Given the description of an element on the screen output the (x, y) to click on. 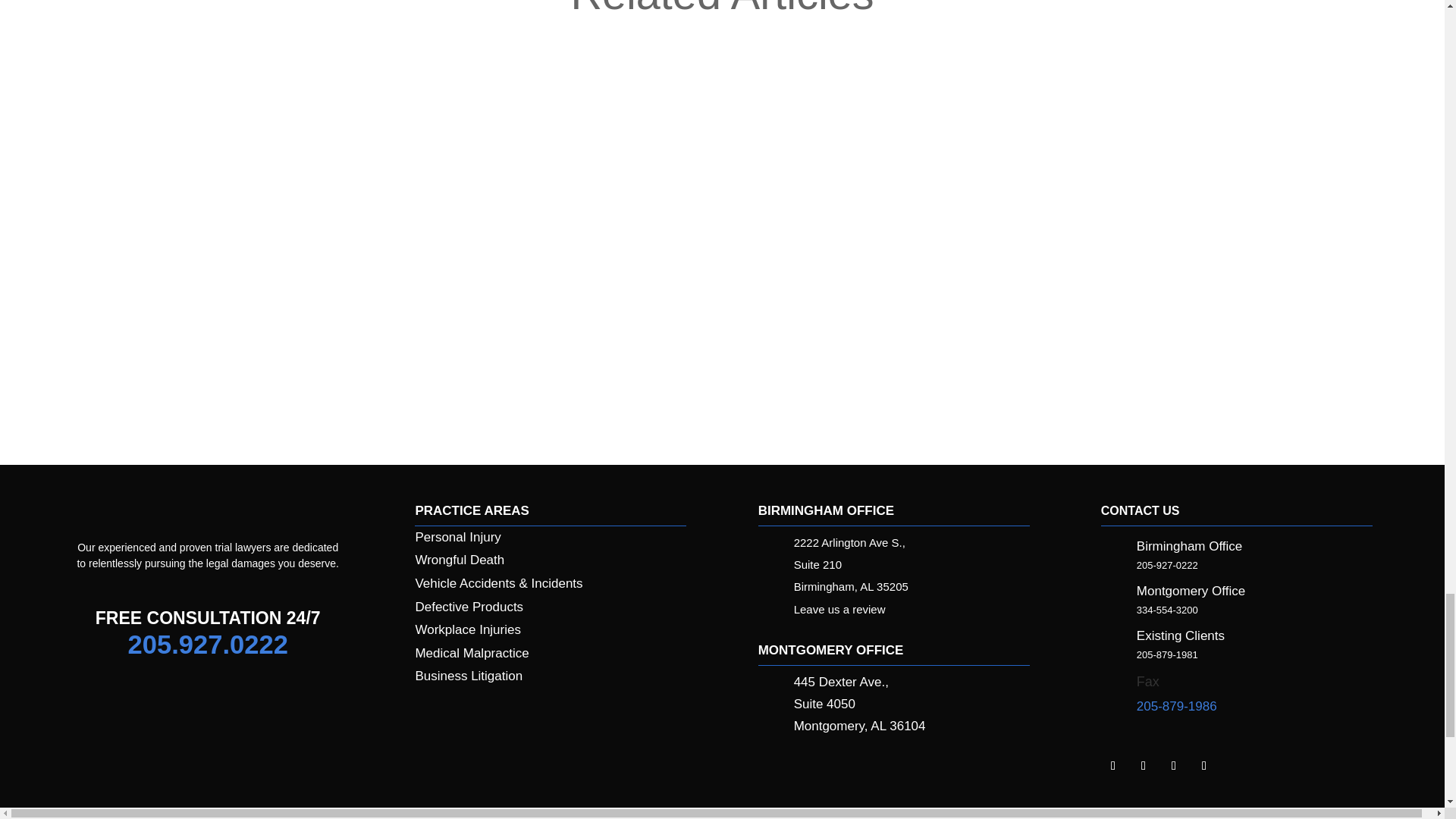
Follow on Youtube (1203, 765)
Follow on LinkedIn (1112, 765)
Follow on X (1173, 765)
Follow on Facebook (1143, 765)
